Given the description of an element on the screen output the (x, y) to click on. 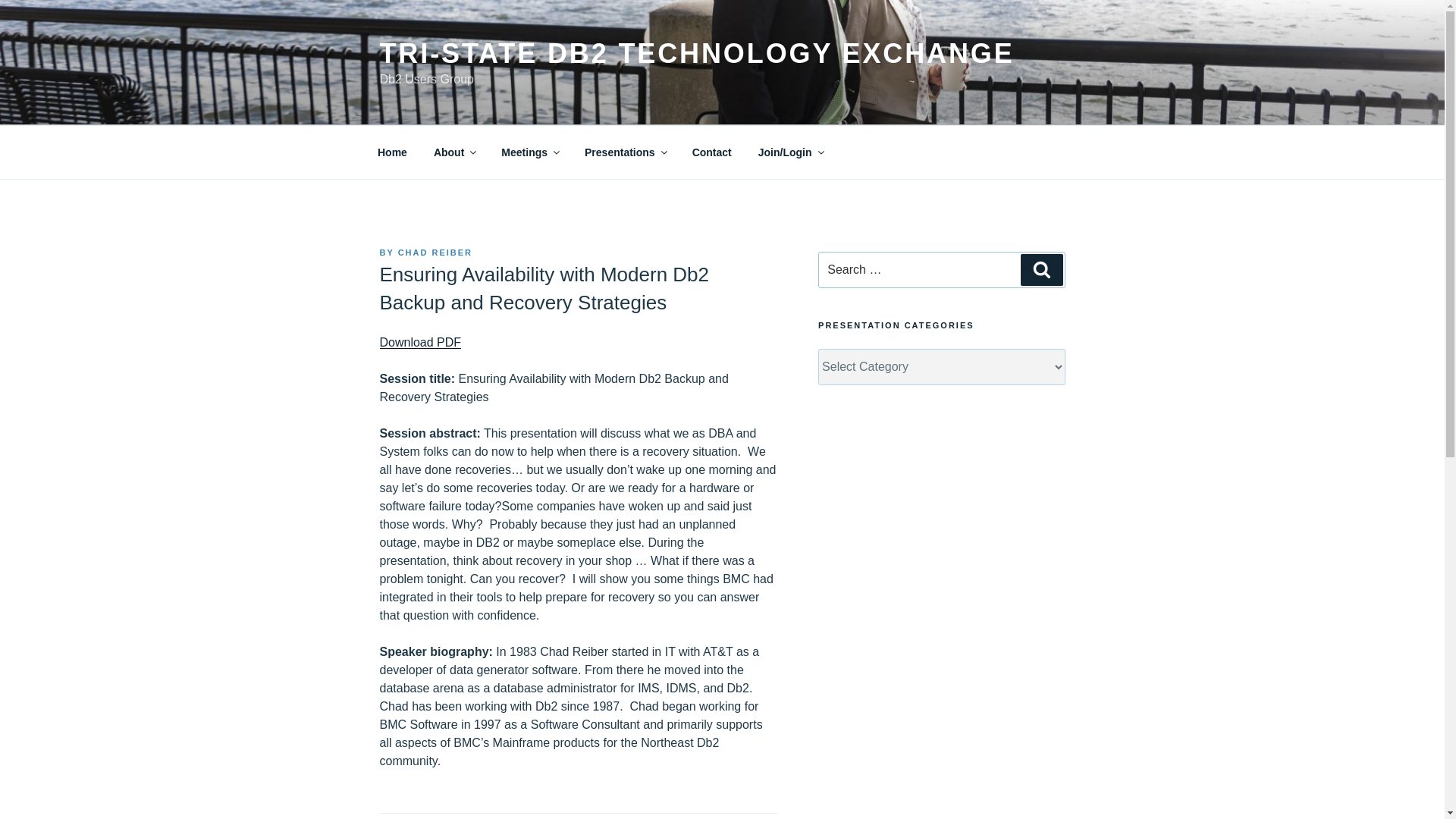
Home (392, 151)
Meetings (529, 151)
TRI-STATE DB2 TECHNOLOGY EXCHANGE (695, 52)
About (453, 151)
